Given the description of an element on the screen output the (x, y) to click on. 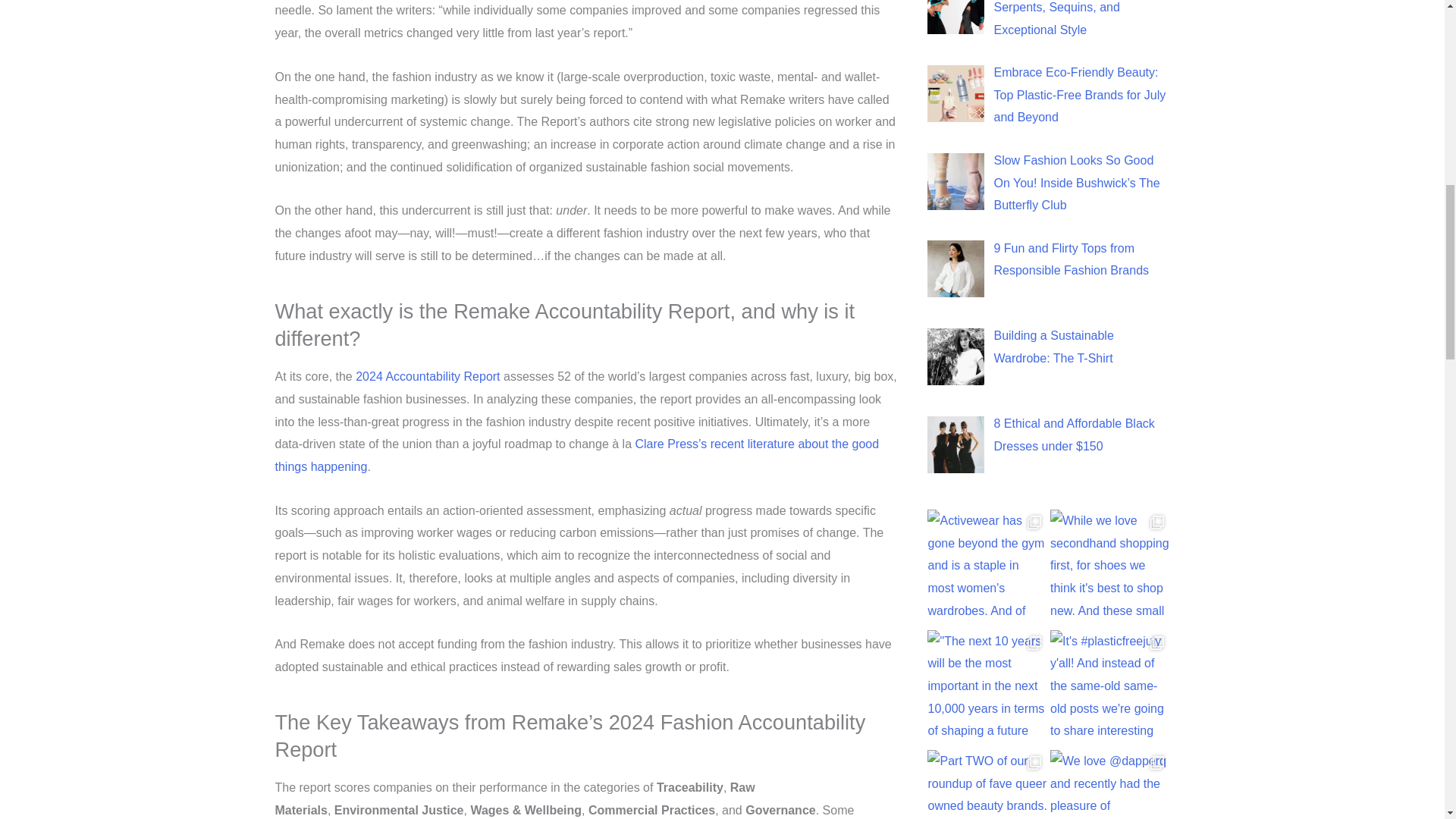
2024 Accountability Report (427, 376)
